Given the description of an element on the screen output the (x, y) to click on. 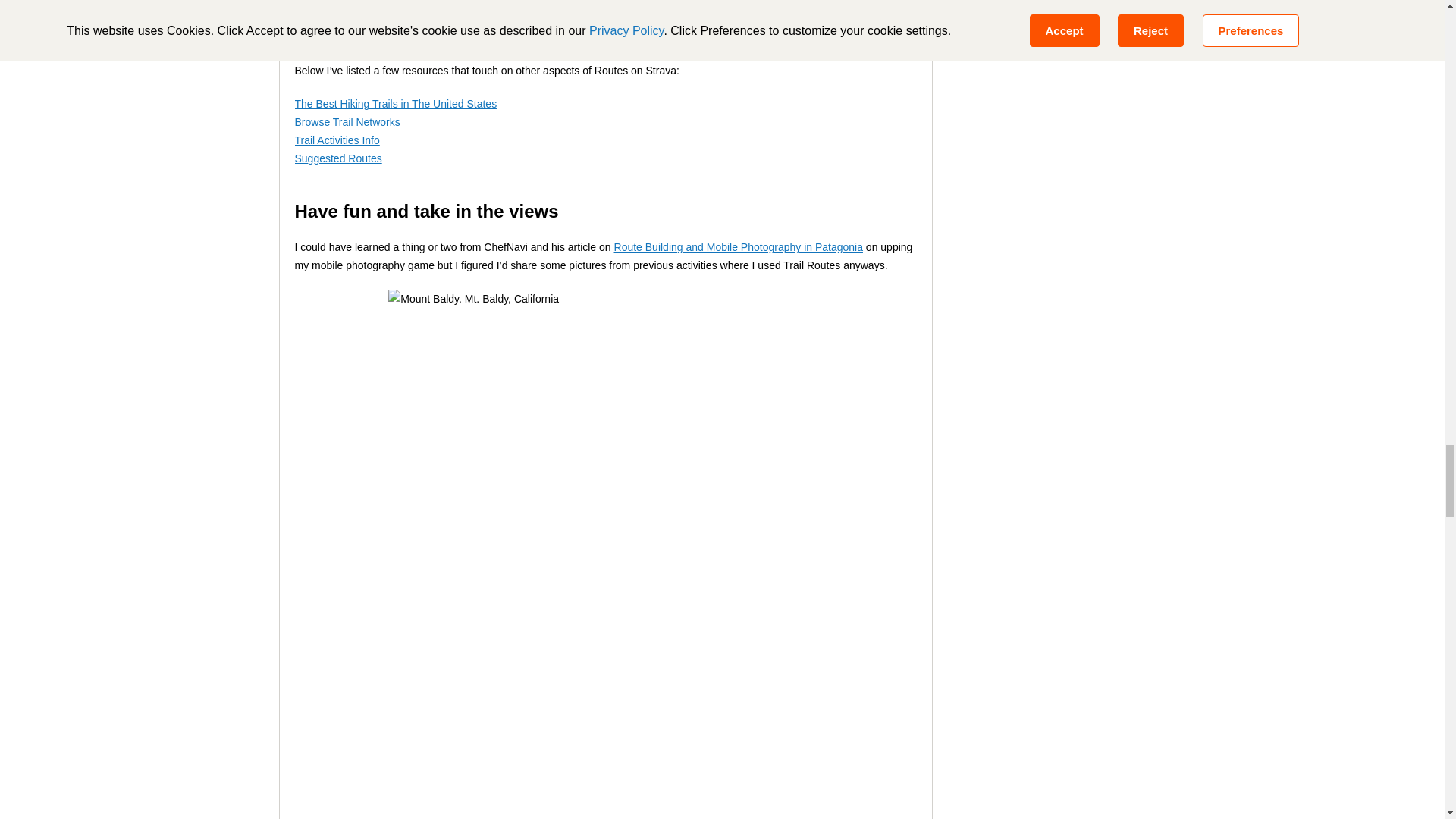
Browse Trail Networks (346, 121)
The Best Hiking Trails in The United States (395, 103)
Suggested Routes (337, 158)
Trail Activities Info (336, 140)
